Given the description of an element on the screen output the (x, y) to click on. 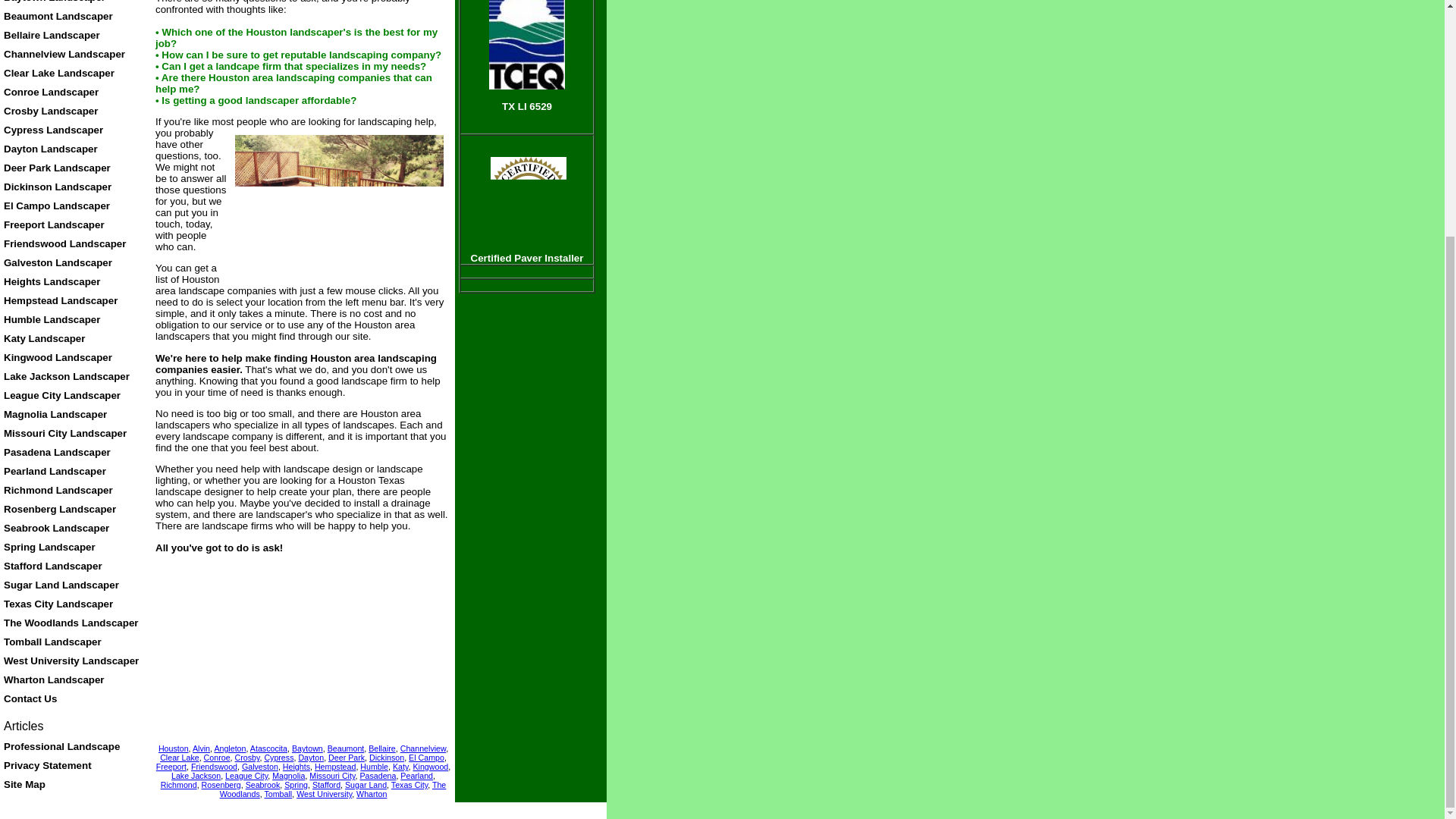
Conroe Landscaper (51, 91)
Katy Landscaper (44, 337)
Friendswood Landscaper (64, 243)
Rosenberg Landscaper (60, 509)
Galveston Landscaper (58, 262)
Paver cerification organization (528, 198)
Crosby Landscaper (50, 111)
Sugar Land Landscaper (61, 584)
Seabrook Landscaper (56, 527)
Richmond Landscaper (58, 490)
League City Landscaper (62, 395)
Spring Landscaper (50, 546)
Kingwood Landscaper (58, 357)
Hempstead Landscaper (60, 300)
Dickinson Landscaper (58, 186)
